Given the description of an element on the screen output the (x, y) to click on. 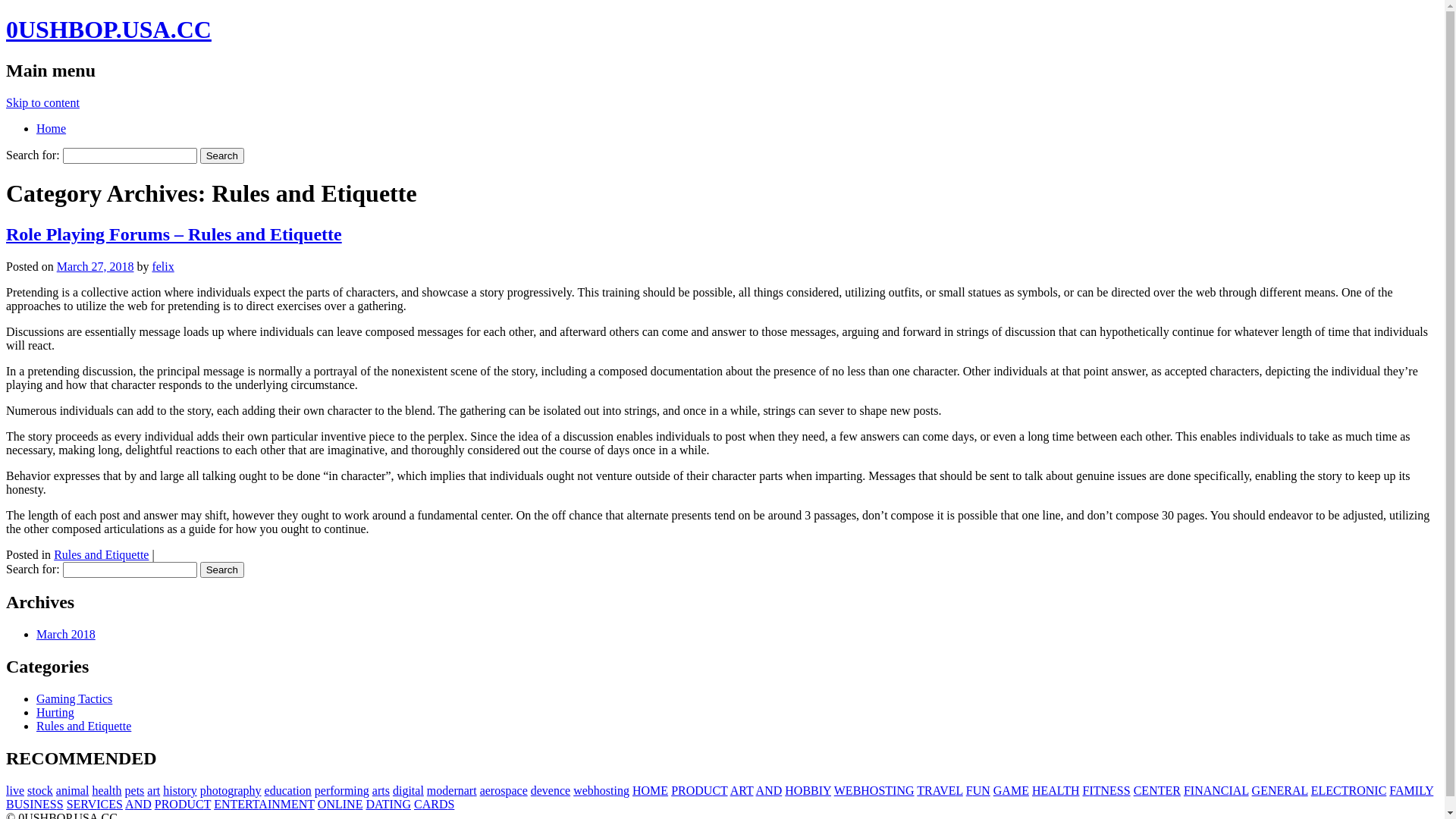
P Element type: text (674, 790)
c Element type: text (284, 790)
U Element type: text (190, 803)
E Element type: text (1144, 790)
T Element type: text (723, 790)
n Element type: text (620, 790)
i Element type: text (615, 790)
i Element type: text (354, 790)
March 27, 2018 Element type: text (95, 266)
g Element type: text (626, 790)
C Element type: text (716, 790)
I Element type: text (1090, 790)
E Element type: text (1025, 790)
t Element type: text (412, 790)
N Element type: text (1215, 790)
O Element type: text (321, 803)
N Element type: text (225, 803)
L Element type: text (1244, 790)
a Element type: text (482, 790)
S Element type: text (53, 803)
T Element type: text (310, 803)
O Element type: text (690, 790)
G Element type: text (1256, 790)
n Element type: text (360, 790)
u Element type: text (279, 790)
r Element type: text (342, 790)
N Element type: text (1105, 790)
E Element type: text (1280, 790)
E Element type: text (240, 803)
n Element type: text (308, 790)
o Element type: text (602, 790)
e Element type: text (323, 790)
V Element type: text (92, 803)
e Element type: text (100, 790)
a Element type: text (82, 790)
E Element type: text (1263, 790)
e Element type: text (133, 790)
L Element type: text (1304, 790)
F Element type: text (969, 790)
p Element type: text (128, 790)
R Element type: text (928, 790)
felix Element type: text (162, 266)
E Element type: text (849, 790)
A Element type: text (1399, 790)
i Element type: text (399, 790)
D Element type: text (698, 790)
d Element type: text (533, 790)
E Element type: text (112, 803)
k Element type: text (50, 790)
v Element type: text (545, 790)
R Element type: text (1352, 790)
E Element type: text (1314, 790)
l Element type: text (110, 790)
I Element type: text (894, 790)
e Element type: text (450, 790)
a Element type: text (58, 790)
C Element type: text (1224, 790)
a Element type: text (417, 790)
I Element type: text (31, 803)
t Element type: text (474, 790)
R Element type: text (165, 803)
C Element type: text (199, 803)
R Element type: text (1176, 790)
U Element type: text (18, 803)
Skip to content Element type: text (42, 102)
V Element type: text (943, 790)
L Element type: text (1421, 790)
T Element type: text (385, 803)
O Element type: text (1360, 790)
c Element type: text (44, 790)
i Element type: text (10, 790)
a Element type: text (374, 790)
a Element type: text (149, 790)
A Element type: text (1052, 790)
G Element type: text (997, 790)
U Element type: text (977, 790)
R Element type: text (83, 803)
S Element type: text (881, 790)
T Element type: text (1066, 790)
T Element type: text (1097, 790)
I Element type: text (1231, 790)
C Element type: text (1137, 790)
S Element type: text (119, 803)
E Element type: text (1329, 790)
T Element type: text (255, 803)
E Element type: text (1113, 790)
L Element type: text (1321, 790)
i Element type: text (409, 790)
r Element type: text (235, 790)
A Element type: text (734, 790)
a Element type: text (239, 790)
o Element type: text (497, 790)
t Element type: text (158, 790)
y Element type: text (258, 790)
G Element type: text (406, 803)
March 2018 Element type: text (65, 633)
e Element type: text (487, 790)
Rules and Etiquette Element type: text (100, 554)
N Element type: text (900, 790)
e Element type: text (584, 790)
t Element type: text (137, 790)
E Element type: text (952, 790)
I Element type: text (1375, 790)
s Element type: text (141, 790)
l Element type: text (421, 790)
H Element type: text (788, 790)
E Element type: text (77, 803)
m Element type: text (74, 790)
I Element type: text (1192, 790)
H Element type: text (864, 790)
a Element type: text (513, 790)
E Element type: text (217, 803)
r Element type: text (154, 790)
C Element type: text (1382, 790)
r Element type: text (188, 790)
W Element type: text (839, 790)
e Element type: text (567, 790)
b Element type: text (590, 790)
o Element type: text (337, 790)
A Element type: text (936, 790)
d Element type: text (445, 790)
Gaming Tactics Element type: text (74, 698)
h Element type: text (166, 790)
D Element type: text (369, 803)
s Element type: text (29, 790)
A Element type: text (1237, 790)
M Element type: text (1015, 790)
e Element type: text (524, 790)
F Element type: text (1085, 790)
I Element type: text (820, 790)
p Element type: text (246, 790)
B Element type: text (806, 790)
A Element type: text (378, 803)
R Element type: text (742, 790)
H Element type: text (1036, 790)
R Element type: text (434, 803)
N Element type: text (1369, 790)
L Element type: text (1060, 790)
N Element type: text (138, 803)
l Element type: text (7, 790)
s Element type: text (607, 790)
B Element type: text (857, 790)
h Element type: text (596, 790)
t Element type: text (178, 790)
N Element type: text (397, 803)
A Element type: text (760, 790)
h Element type: text (209, 790)
H Element type: text (636, 790)
S Element type: text (1120, 790)
o Element type: text (183, 790)
g Element type: text (366, 790)
A Element type: text (1296, 790)
C Element type: text (1337, 790)
e Element type: text (550, 790)
s Element type: text (387, 790)
C Element type: text (418, 803)
E Element type: text (1168, 790)
Hurting Element type: text (55, 712)
i Element type: text (68, 790)
o Element type: text (38, 790)
Search Element type: text (222, 569)
R Element type: text (681, 790)
h Element type: text (252, 790)
v Element type: text (15, 790)
t Element type: text (293, 790)
D Element type: text (443, 803)
l Element type: text (86, 790)
M Element type: text (285, 803)
Y Element type: text (1428, 790)
c Element type: text (519, 790)
O Element type: text (645, 790)
S Element type: text (69, 803)
m Element type: text (431, 790)
Rules and Etiquette Element type: text (83, 725)
H Element type: text (1074, 790)
O Element type: text (873, 790)
G Element type: text (909, 790)
R Element type: text (1287, 790)
g Element type: text (404, 790)
r Element type: text (327, 790)
o Element type: text (302, 790)
0USHBOP.USA.CC Element type: text (108, 29)
R Element type: text (248, 803)
U Element type: text (707, 790)
A Element type: text (129, 803)
F Element type: text (1186, 790)
d Element type: text (272, 790)
r Element type: text (455, 790)
e Element type: text (266, 790)
h Element type: text (94, 790)
O Element type: text (173, 803)
N Element type: text (350, 803)
P Element type: text (157, 803)
Home Element type: text (50, 128)
A Element type: text (262, 803)
F Element type: text (1392, 790)
D Element type: text (777, 790)
n Element type: text (461, 790)
o Element type: text (215, 790)
f Element type: text (331, 790)
E Element type: text (294, 803)
T Element type: text (1345, 790)
I Element type: text (391, 803)
T Element type: text (749, 790)
a Element type: text (105, 790)
t Element type: text (113, 790)
L Element type: text (338, 803)
I Element type: text (98, 803)
y Element type: text (194, 790)
t Element type: text (611, 790)
N Element type: text (302, 803)
D Element type: text (182, 803)
S Element type: text (1126, 790)
i Element type: text (170, 790)
r Element type: text (379, 790)
p Element type: text (203, 790)
m Element type: text (348, 790)
I Element type: text (1416, 790)
i Element type: text (296, 790)
s Element type: text (502, 790)
N Element type: text (275, 803)
T Element type: text (888, 790)
T Element type: text (206, 803)
D Element type: text (146, 803)
o Element type: text (224, 790)
d Element type: text (395, 790)
B Element type: text (10, 803)
N Element type: text (985, 790)
t Element type: text (382, 790)
M Element type: text (654, 790)
t Element type: text (219, 790)
S Element type: text (59, 803)
E Element type: text (359, 803)
N Element type: text (330, 803)
h Element type: text (119, 790)
C Element type: text (104, 803)
a Element type: text (466, 790)
T Element type: text (234, 803)
O Element type: text (798, 790)
s Element type: text (174, 790)
M Element type: text (1409, 790)
E Element type: text (664, 790)
N Element type: text (1152, 790)
L Element type: text (959, 790)
S Element type: text (25, 803)
A Element type: text (426, 803)
I Element type: text (344, 803)
I Element type: text (269, 803)
p Element type: text (317, 790)
n Element type: text (556, 790)
T Element type: text (920, 790)
c Element type: text (561, 790)
Search Element type: text (222, 155)
S Element type: text (450, 803)
A Element type: text (1207, 790)
N Element type: text (1198, 790)
t Element type: text (32, 790)
T Element type: text (1161, 790)
w Element type: text (577, 790)
a Element type: text (289, 790)
e Element type: text (21, 790)
g Element type: text (230, 790)
N Element type: text (37, 803)
N Element type: text (768, 790)
r Element type: text (471, 790)
n Element type: text (64, 790)
N Element type: text (1272, 790)
Y Element type: text (826, 790)
E Element type: text (1044, 790)
A Element type: text (1005, 790)
B Element type: text (814, 790)
p Element type: text (508, 790)
r Element type: text (492, 790)
e Element type: text (539, 790)
E Element type: text (46, 803)
o Element type: text (439, 790)
